Given the description of an element on the screen output the (x, y) to click on. 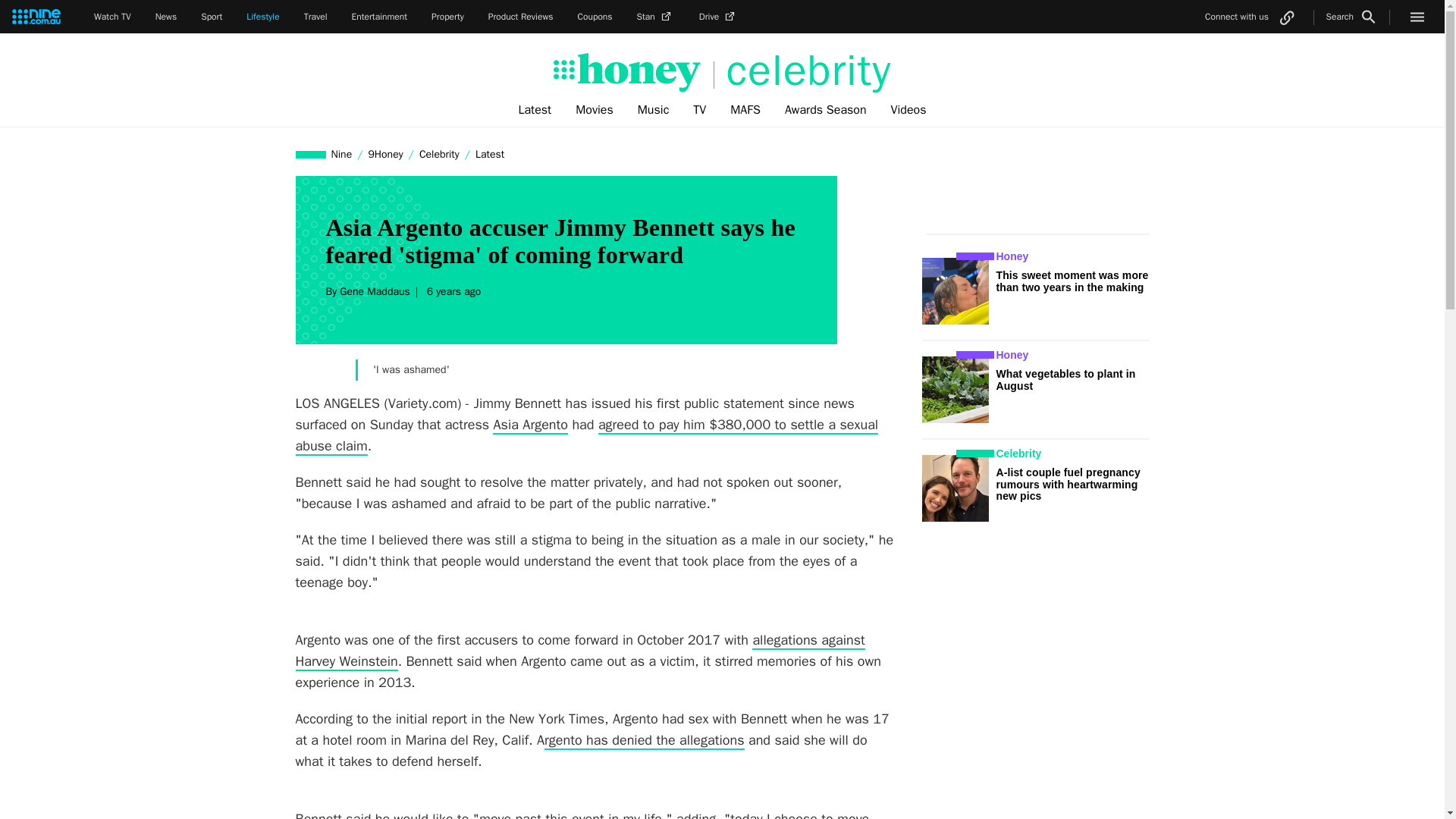
Coupons (595, 16)
celebrity (802, 71)
Music (653, 109)
Lifestyle (262, 16)
rgento has denied the allegations (644, 741)
Property (447, 16)
Movies (594, 109)
rgento has denied the allegations (644, 741)
Stan (656, 16)
9Honey (384, 154)
2018-08-23 05:20 (451, 291)
allegations against Harvey Weinstein (579, 650)
Videos (909, 109)
Awards Season (826, 109)
Latest (534, 109)
